Given the description of an element on the screen output the (x, y) to click on. 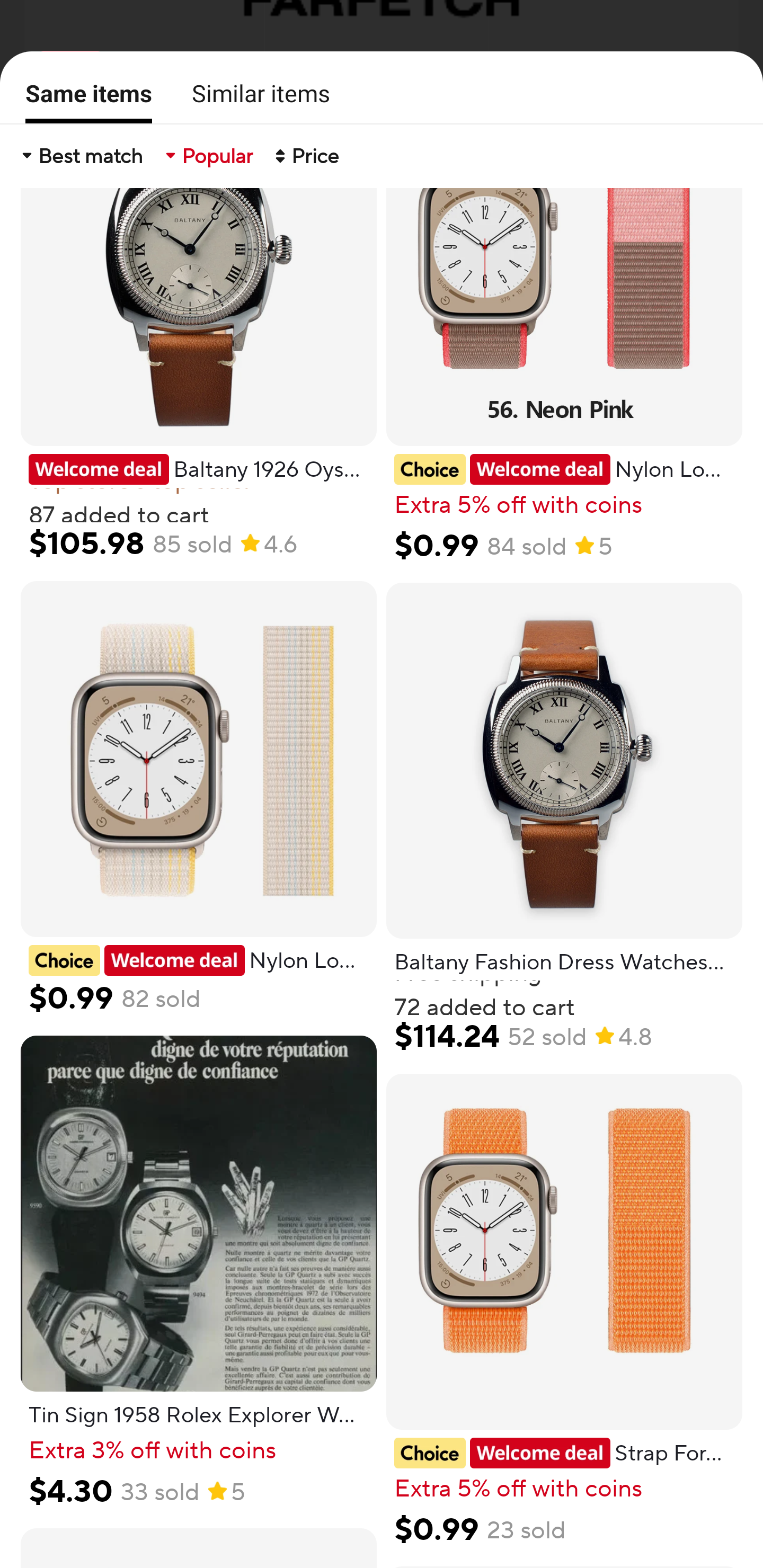
Same items (83, 99)
Similar items (255, 92)
Best match (81, 155)
Popular (207, 155)
Price (305, 155)
